Given the description of an element on the screen output the (x, y) to click on. 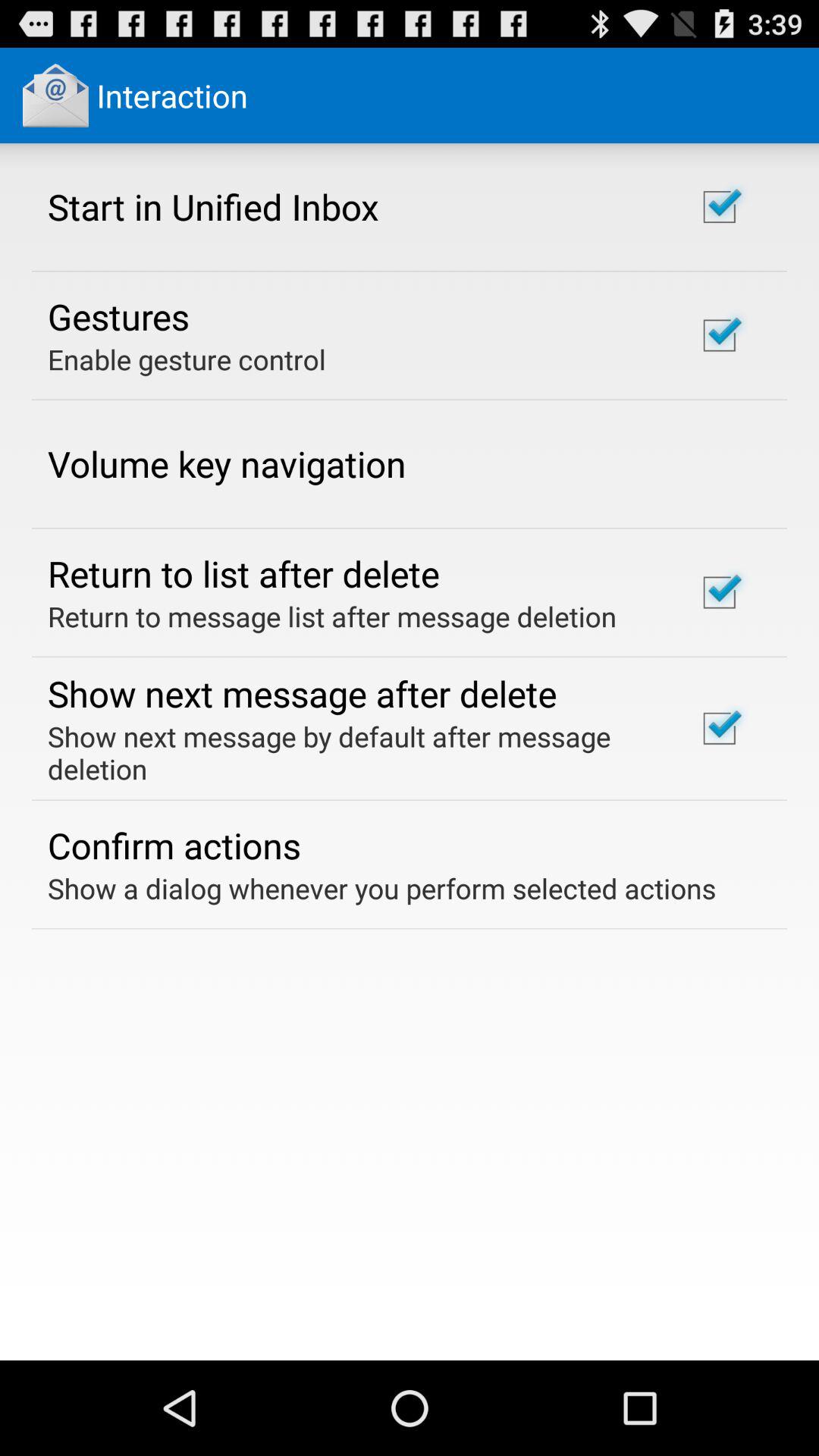
turn off the icon below the gestures icon (186, 359)
